Given the description of an element on the screen output the (x, y) to click on. 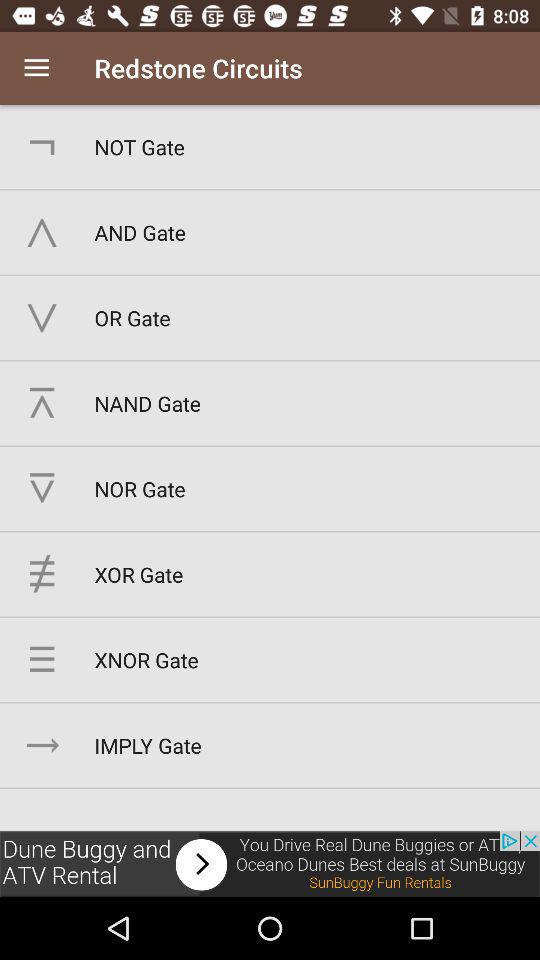
open advertisement (270, 864)
